Given the description of an element on the screen output the (x, y) to click on. 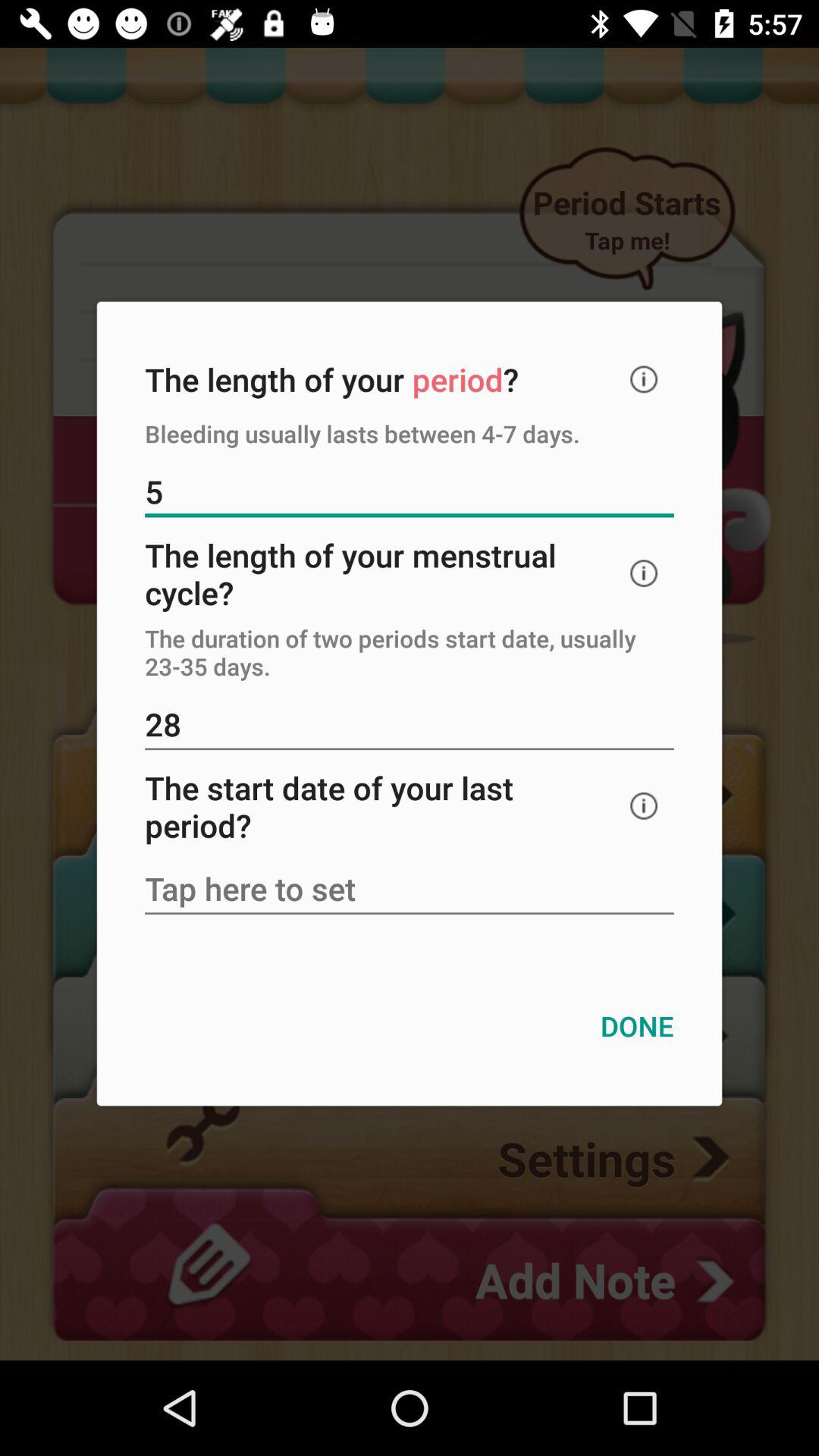
swipe to 5 icon (409, 493)
